Given the description of an element on the screen output the (x, y) to click on. 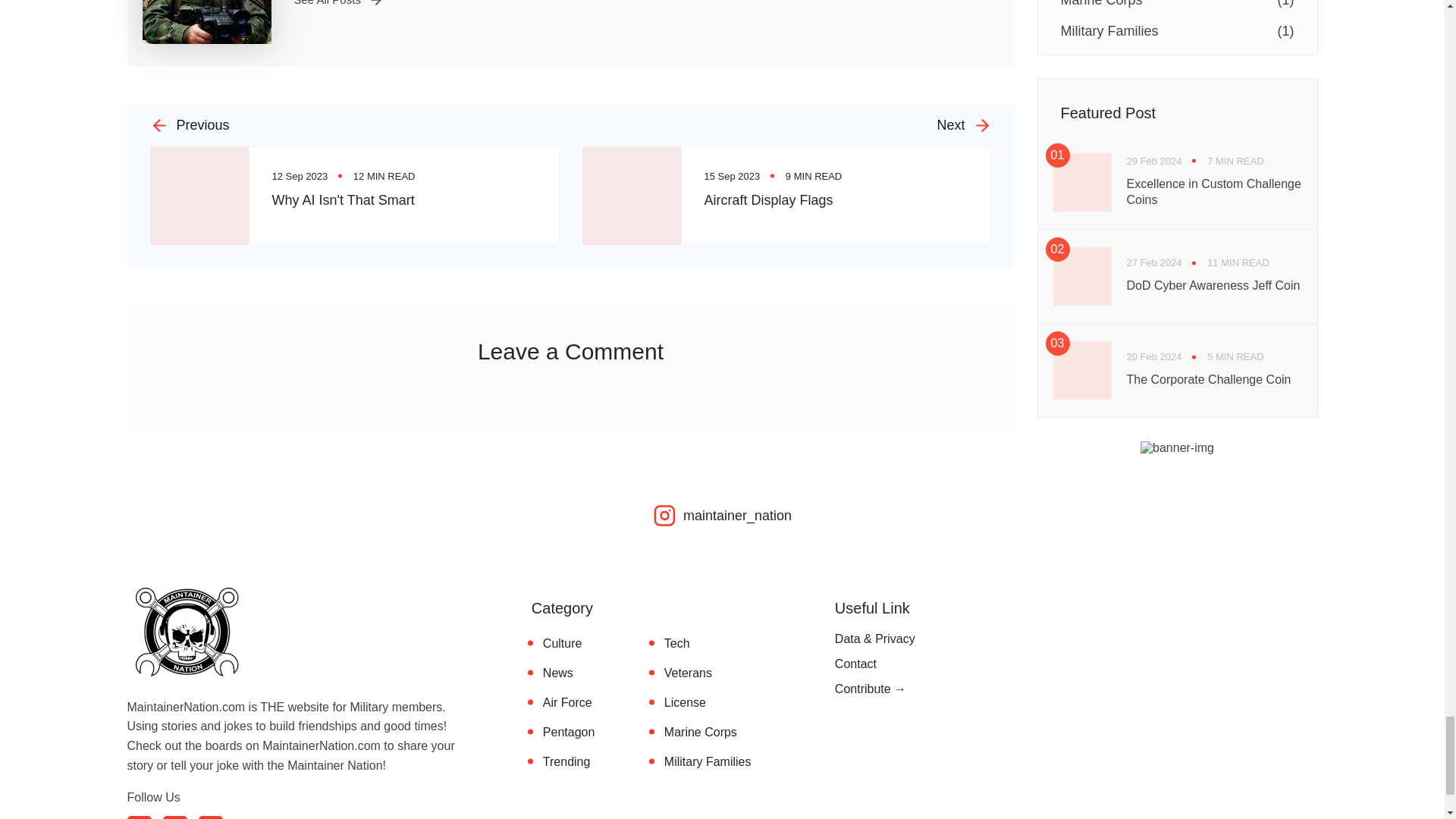
See All Posts (339, 3)
Why AI Isn't That Smart (341, 200)
Previous (354, 125)
